Given the description of an element on the screen output the (x, y) to click on. 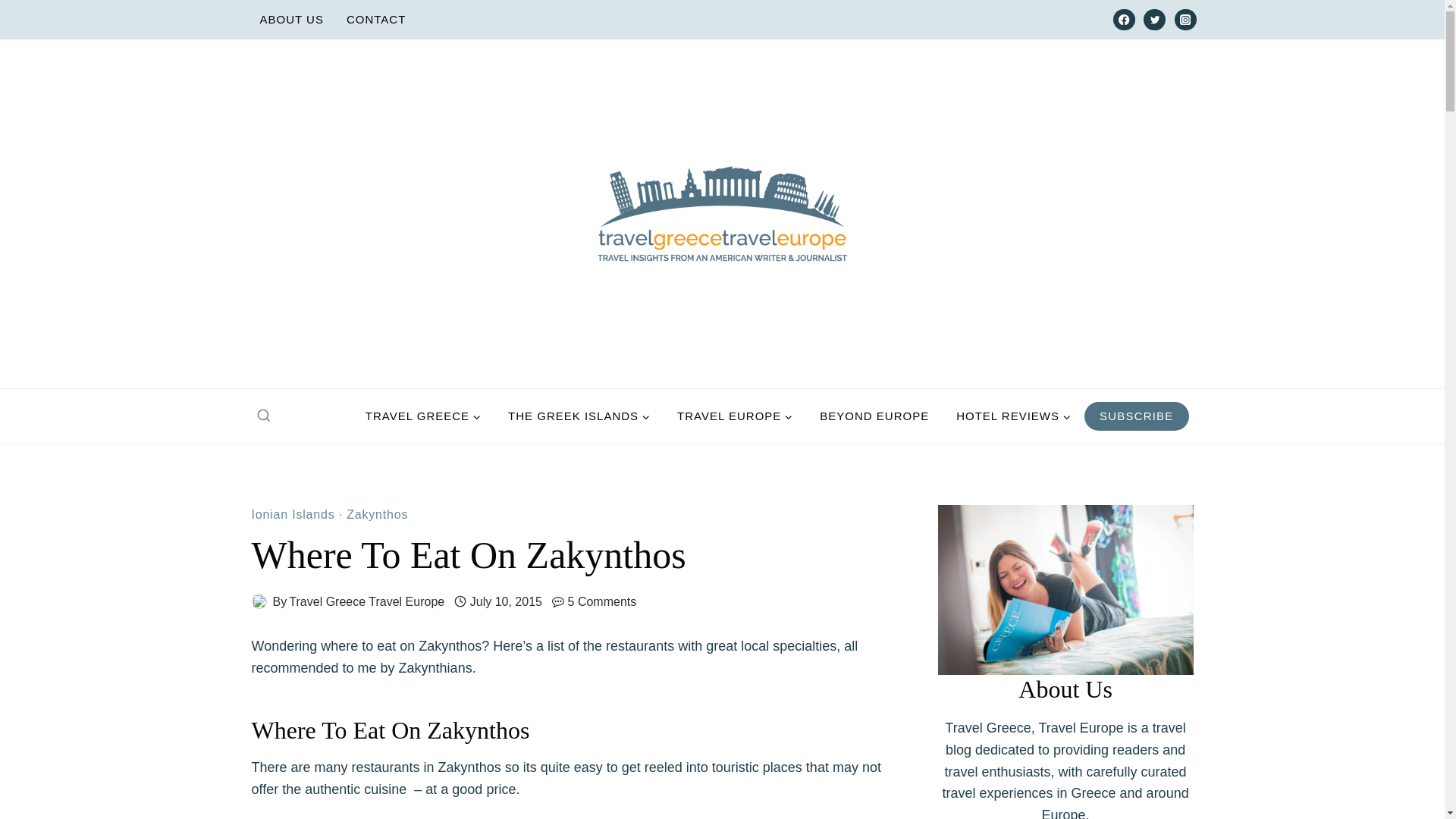
5 Comments (602, 601)
THE GREEK ISLANDS (579, 416)
ABOUT US (291, 20)
CONTACT (375, 20)
TRAVEL GREECE (423, 416)
